Given the description of an element on the screen output the (x, y) to click on. 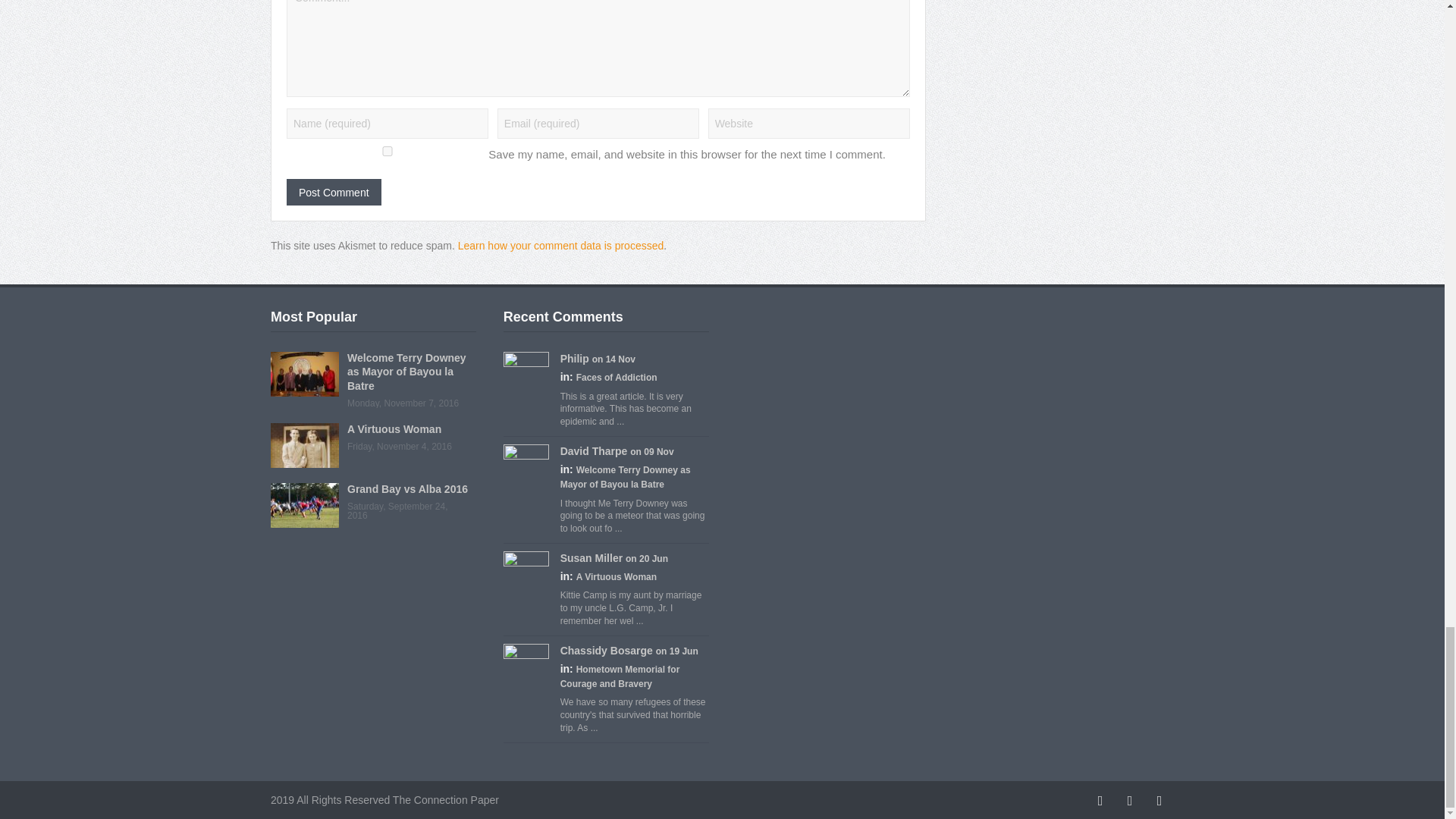
Philip on Faces of Addiction (525, 374)
Susan Miller on A Virtuous Woman (591, 558)
Susan Miller on A Virtuous Woman (525, 572)
Post Comment (333, 192)
yes (386, 151)
Philip on Faces of Addiction (574, 358)
